Given the description of an element on the screen output the (x, y) to click on. 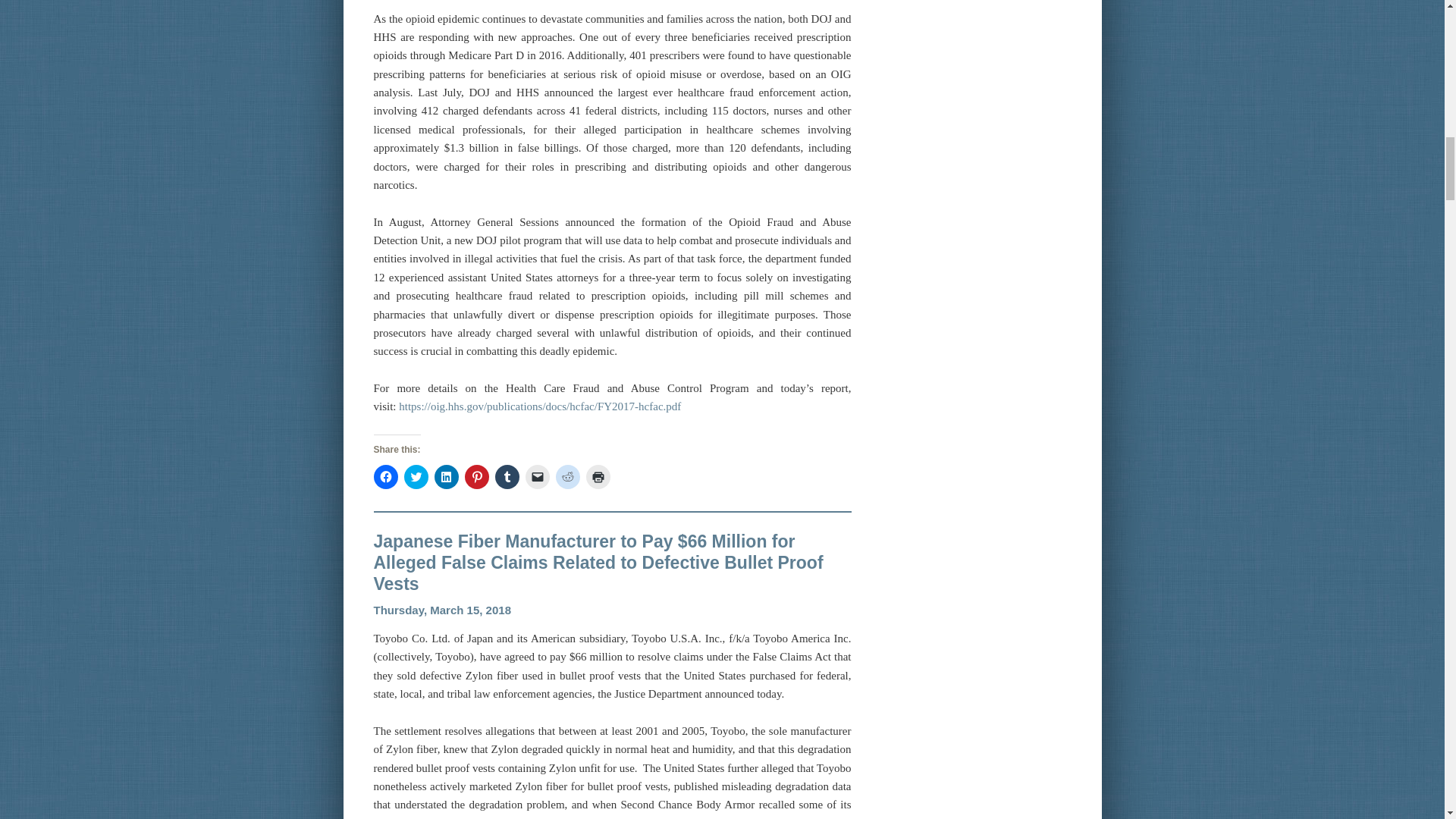
Click to share on LinkedIn (445, 476)
Click to share on Tumblr (506, 476)
Click to share on Pinterest (475, 476)
Click to print (597, 476)
Click to email a link to a friend (536, 476)
Click to share on Facebook (384, 476)
Click to share on Reddit (566, 476)
Click to share on Twitter (415, 476)
